Given the description of an element on the screen output the (x, y) to click on. 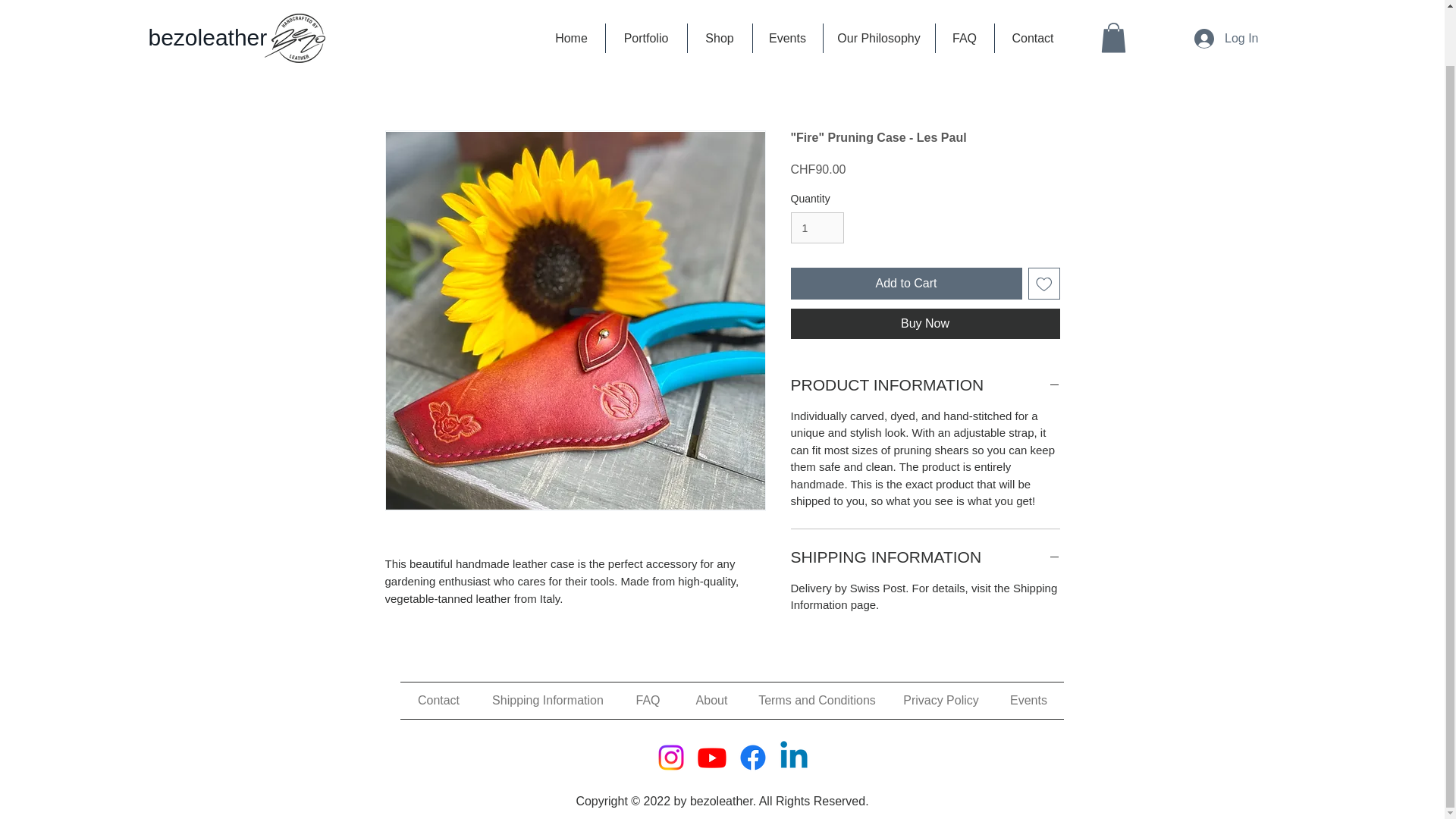
Buy Now (924, 323)
PRODUCT INFORMATION (924, 384)
Privacy Policy (941, 700)
Contact (438, 700)
About (711, 700)
Shipping Information (547, 700)
Terms and Conditions (816, 700)
FAQ (648, 700)
1 (817, 227)
Events (1027, 700)
